Given the description of an element on the screen output the (x, y) to click on. 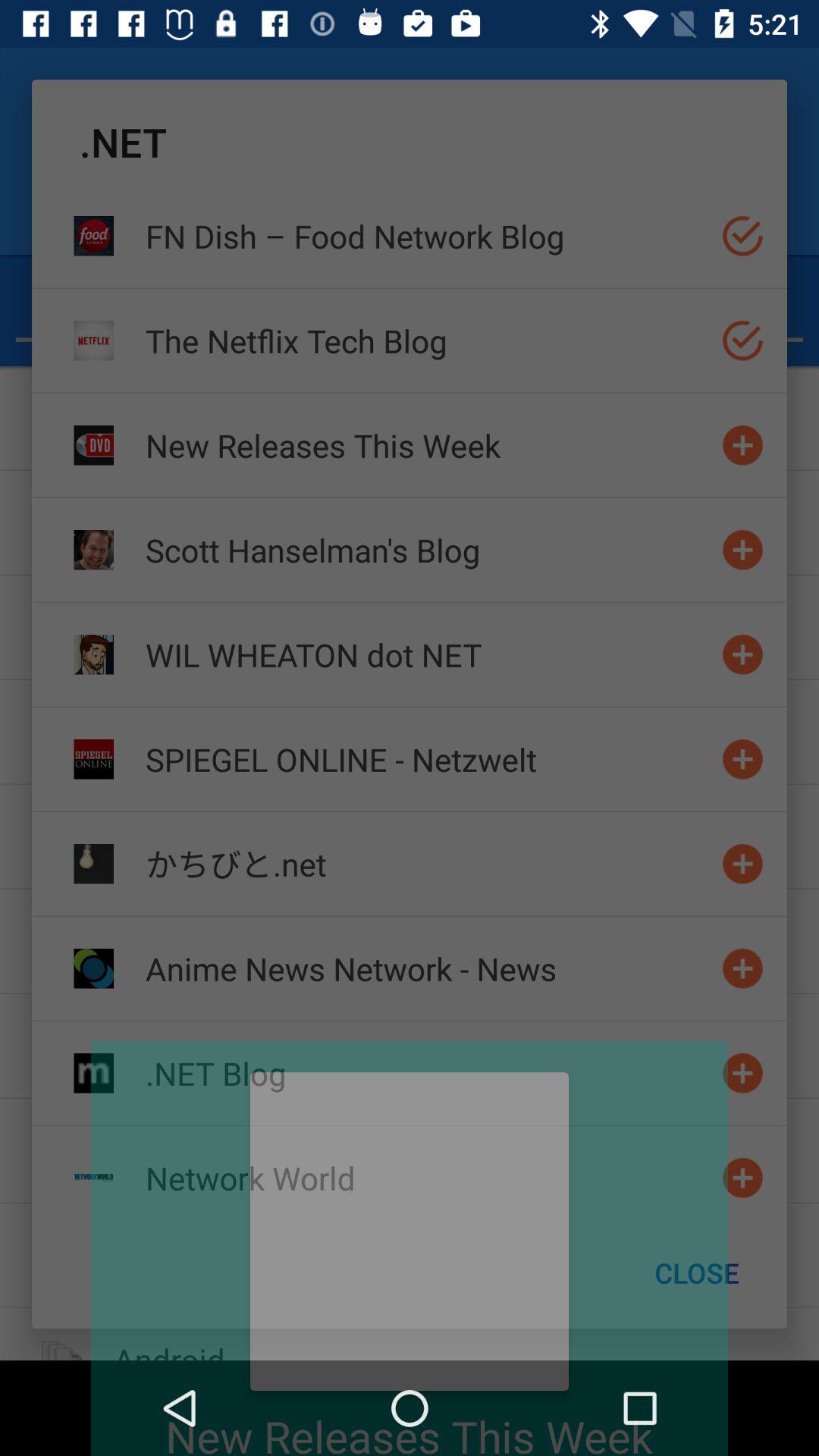
add website to bookmark (742, 445)
